Given the description of an element on the screen output the (x, y) to click on. 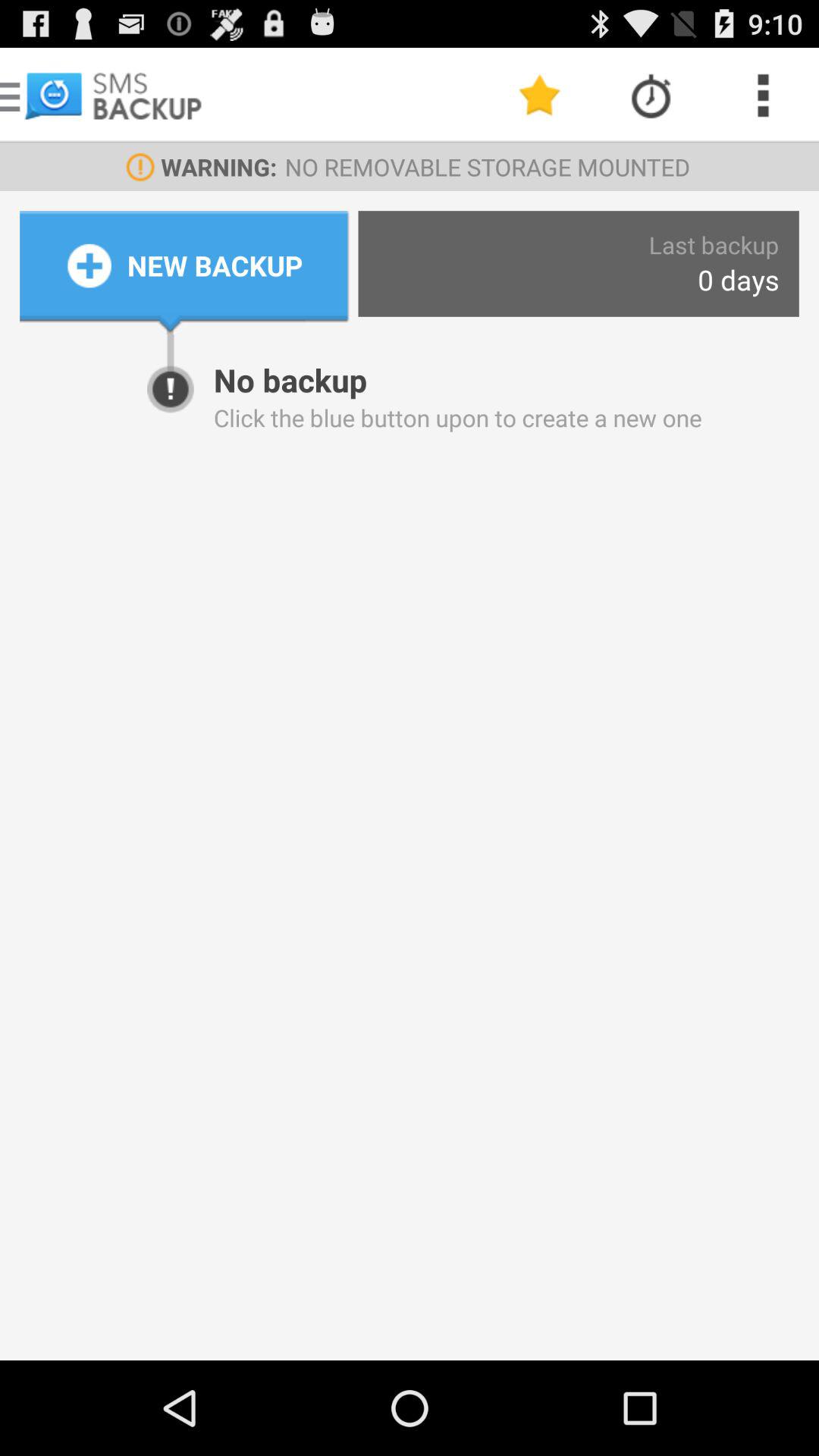
click the app next to no backup item (170, 346)
